Given the description of an element on the screen output the (x, y) to click on. 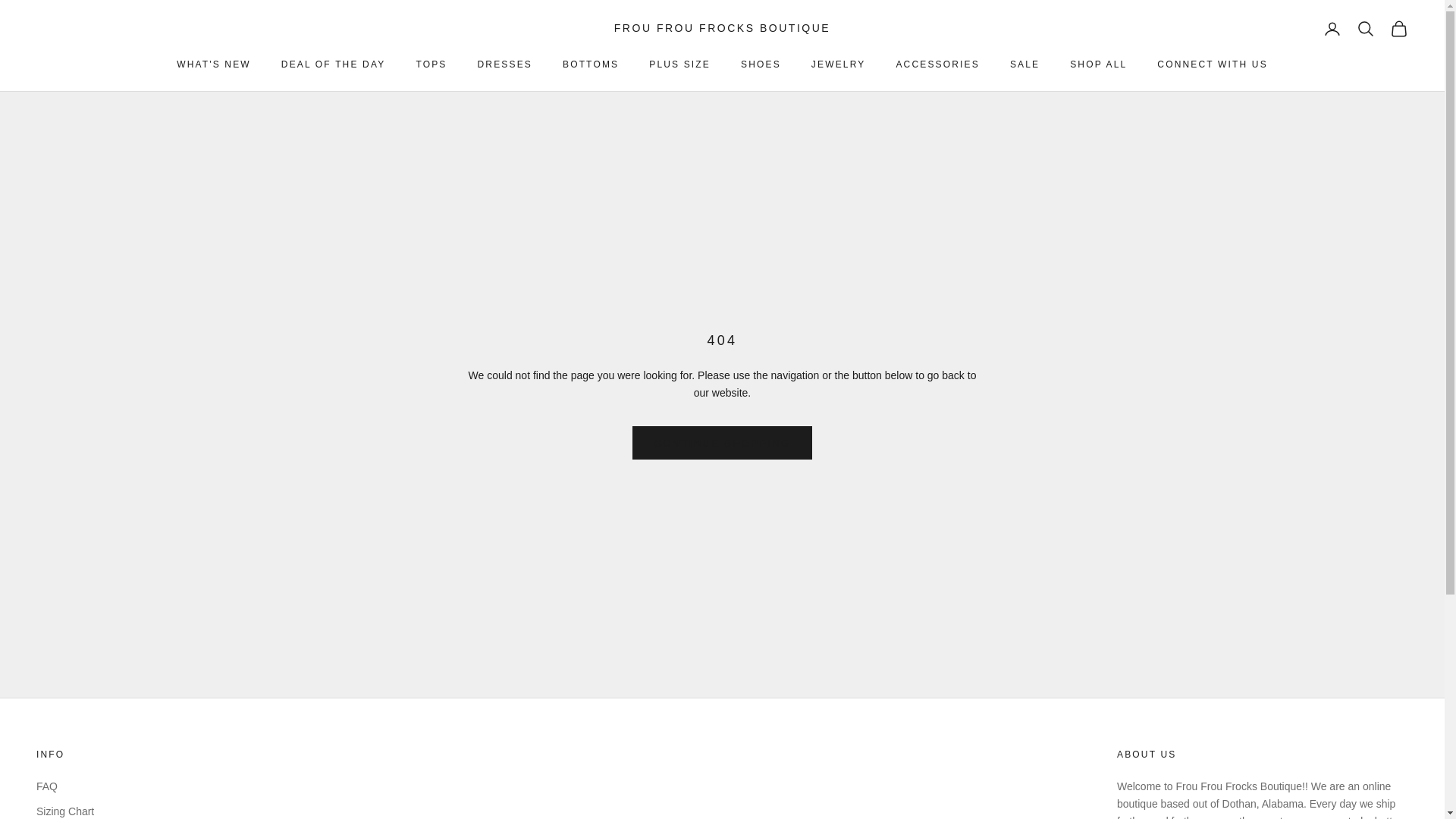
PLUS SIZE (679, 64)
Open cart (1398, 28)
JEWELRY (838, 64)
Open search (1365, 28)
SALE (1024, 64)
SHOES (760, 64)
SHOP ALL (1098, 64)
DEAL OF THE DAY (333, 64)
FROU FROU FROCKS BOUTIQUE (721, 28)
Open account page (1331, 28)
